Given the description of an element on the screen output the (x, y) to click on. 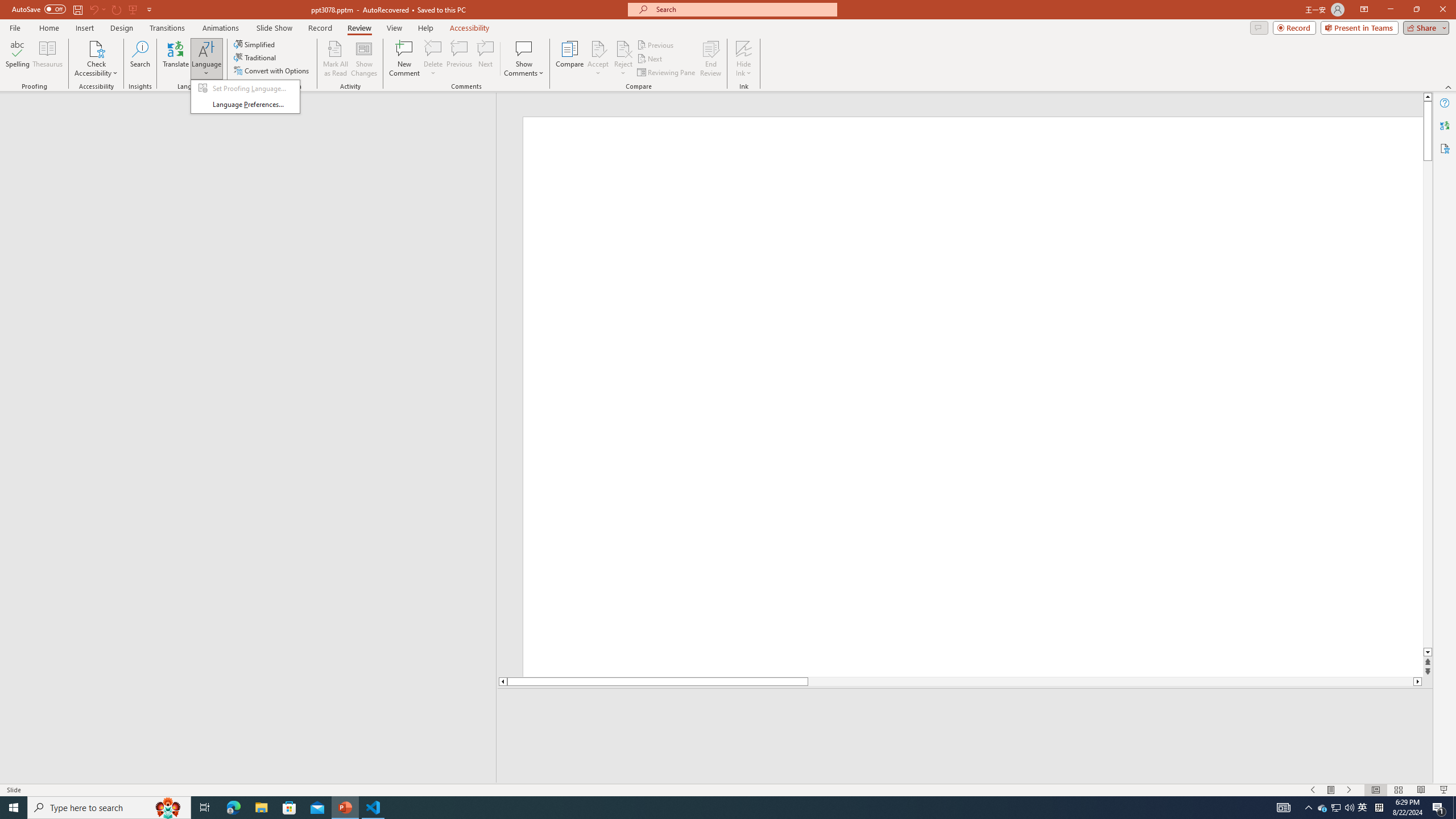
Q2790: 100% (1349, 807)
Show Comments (524, 48)
Search highlights icon opens search home window (167, 807)
PowerPoint - 1 running window (345, 807)
Slide Show Previous On (1313, 790)
Task View (204, 807)
Slide Show Next On (1349, 790)
Search (140, 58)
User Promoted Notification Area (1336, 807)
